Given the description of an element on the screen output the (x, y) to click on. 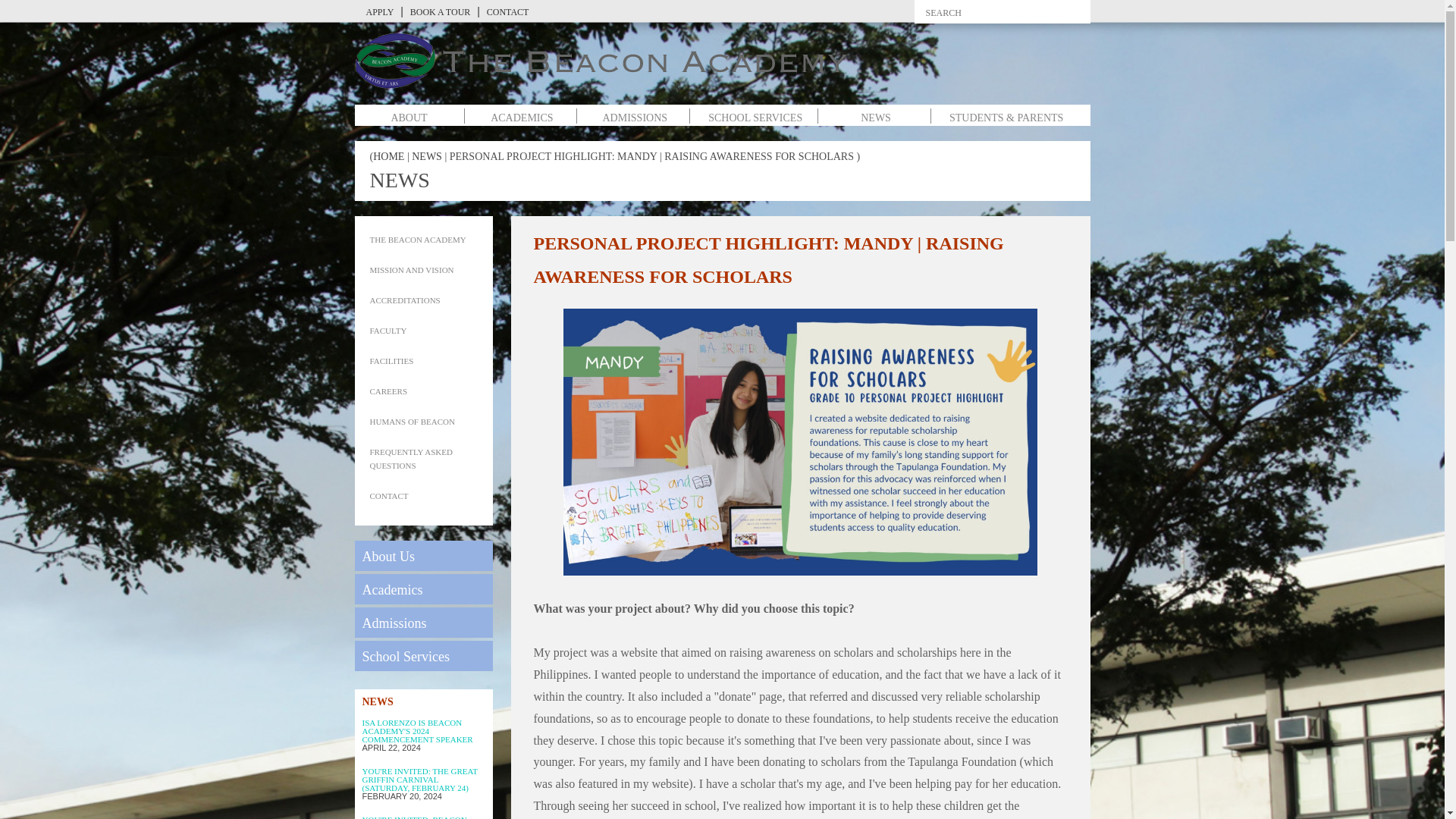
CONTACT (507, 11)
Search (1061, 13)
ABOUT (408, 117)
BOOK A TOUR (440, 11)
NEWS (875, 117)
ADMISSIONS (634, 117)
ACADEMICS (521, 117)
Search (1061, 13)
APPLY (379, 11)
SCHOOL SERVICES (754, 117)
